Given the description of an element on the screen output the (x, y) to click on. 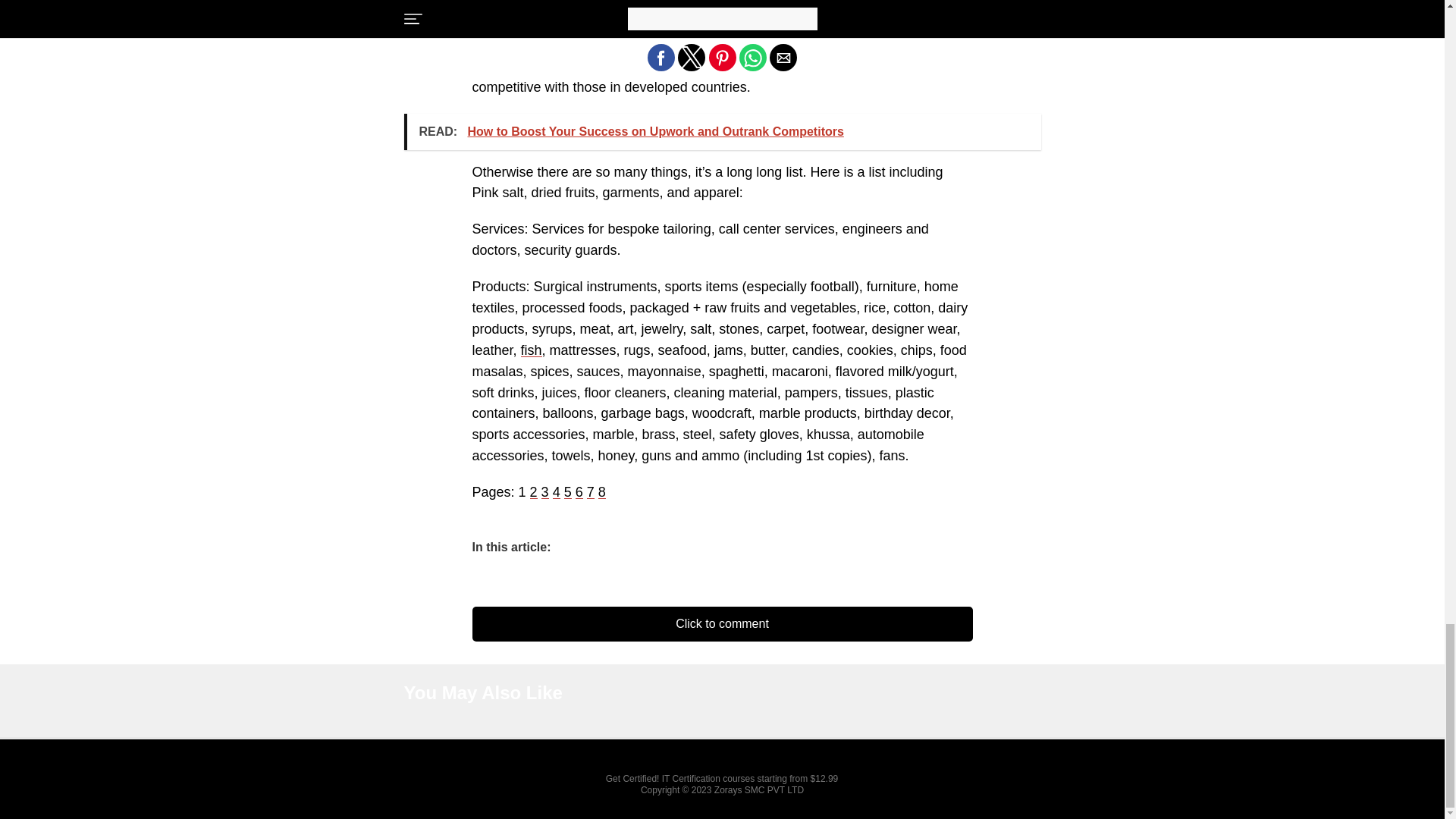
Zorays (728, 789)
fish (531, 350)
